Given the description of an element on the screen output the (x, y) to click on. 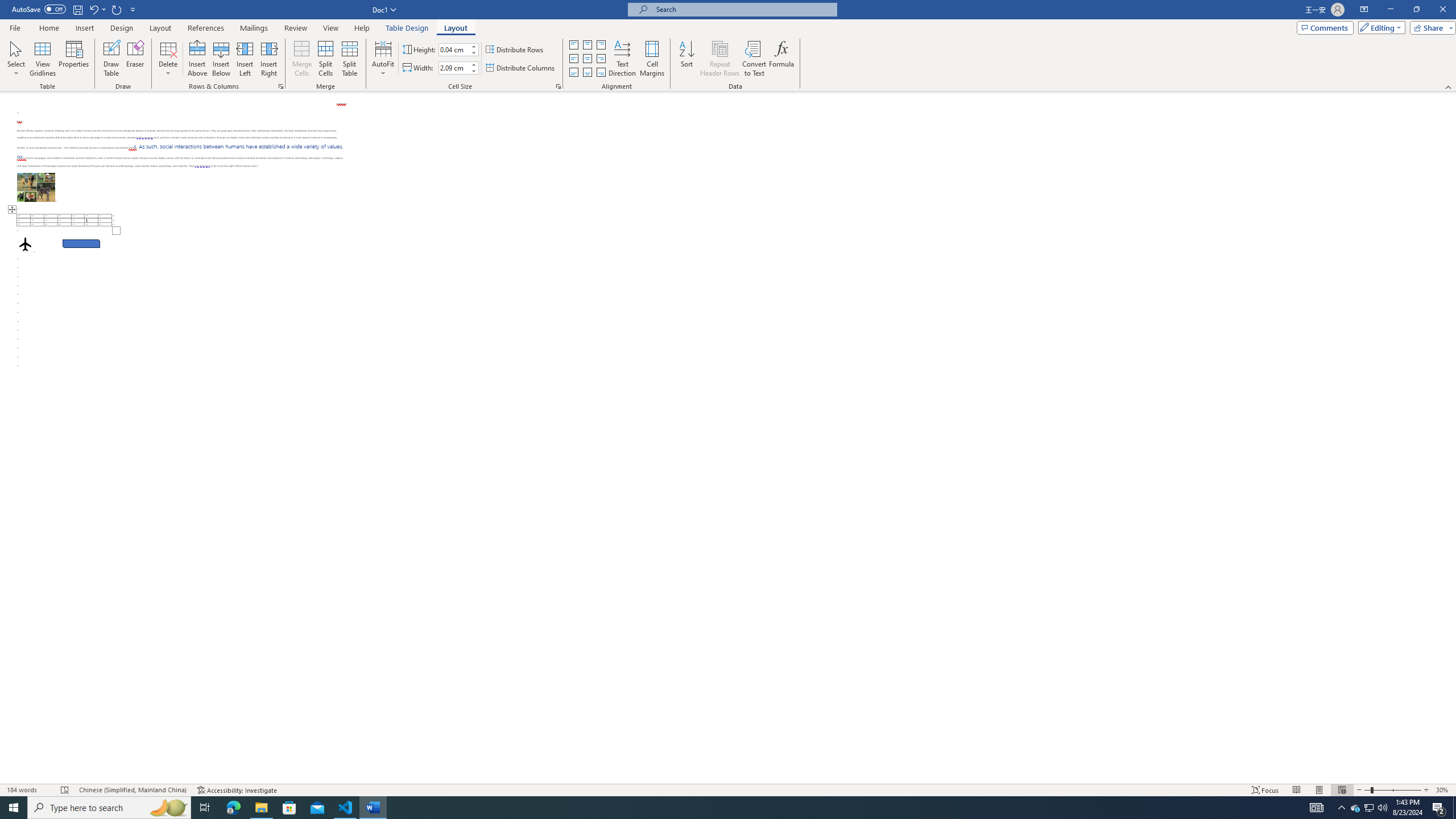
Less (473, 70)
Repeat Row Height Spinner (117, 9)
Undo Row Height Spinner (96, 9)
Align Top Right (601, 44)
Align Center (587, 58)
Language Chinese (Simplified, Mainland China) (132, 790)
Insert Above (196, 58)
Insert Right (269, 58)
Rectangle: Diagonal Corners Snipped 2 (81, 243)
Repeat Header Rows (719, 58)
Merge Cells (301, 58)
Select (16, 58)
